Given the description of an element on the screen output the (x, y) to click on. 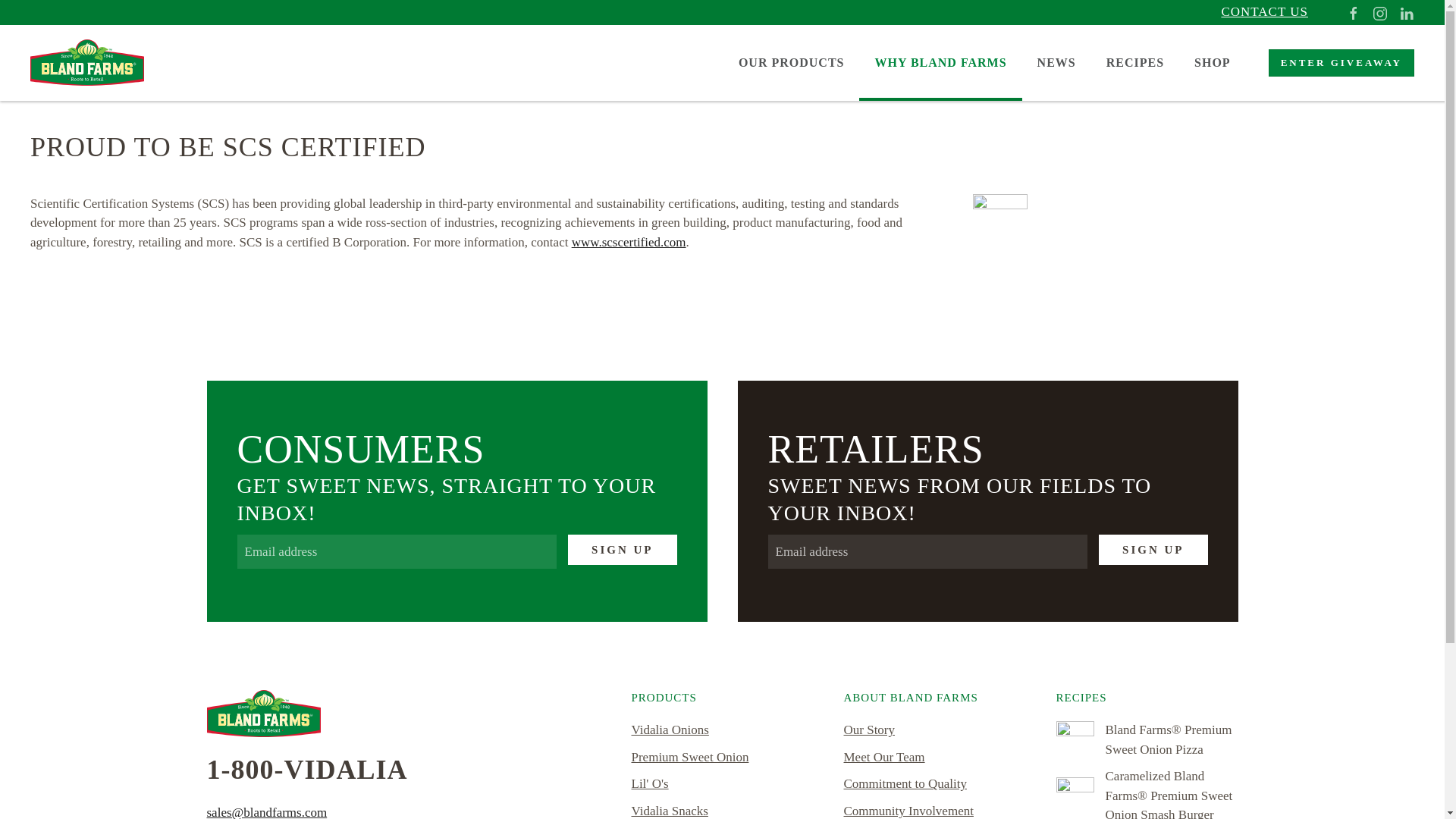
PRODUCTS (721, 697)
CONTACT US (1264, 11)
NEWS (1056, 62)
ABOUT BLAND FARMS (934, 697)
OUR PRODUCTS (791, 62)
WHY BLAND FARMS (940, 62)
www.scscertified.com (628, 242)
RECIPES (1134, 62)
RECIPES (1146, 697)
